Given the description of an element on the screen output the (x, y) to click on. 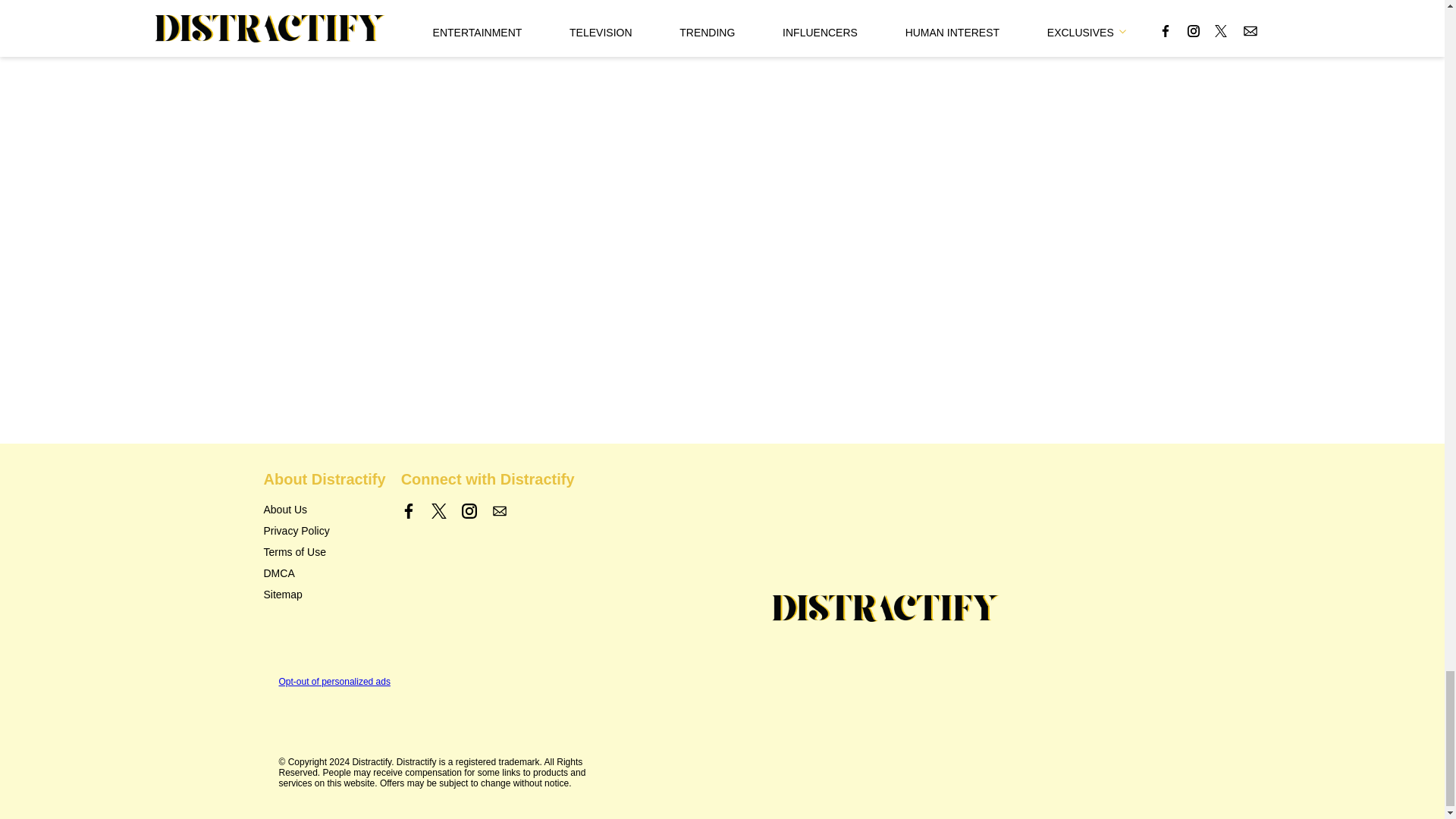
Link to Instagram (469, 510)
Link to Facebook (408, 510)
Privacy Policy (296, 530)
About Us (285, 509)
Privacy Policy (296, 530)
Terms of Use (294, 551)
Sitemap (282, 594)
Link to X (438, 510)
Sitemap (282, 594)
DMCA (279, 573)
About Us (285, 509)
Terms of Use (294, 551)
DMCA (279, 573)
Contact us by Email (499, 510)
